Given the description of an element on the screen output the (x, y) to click on. 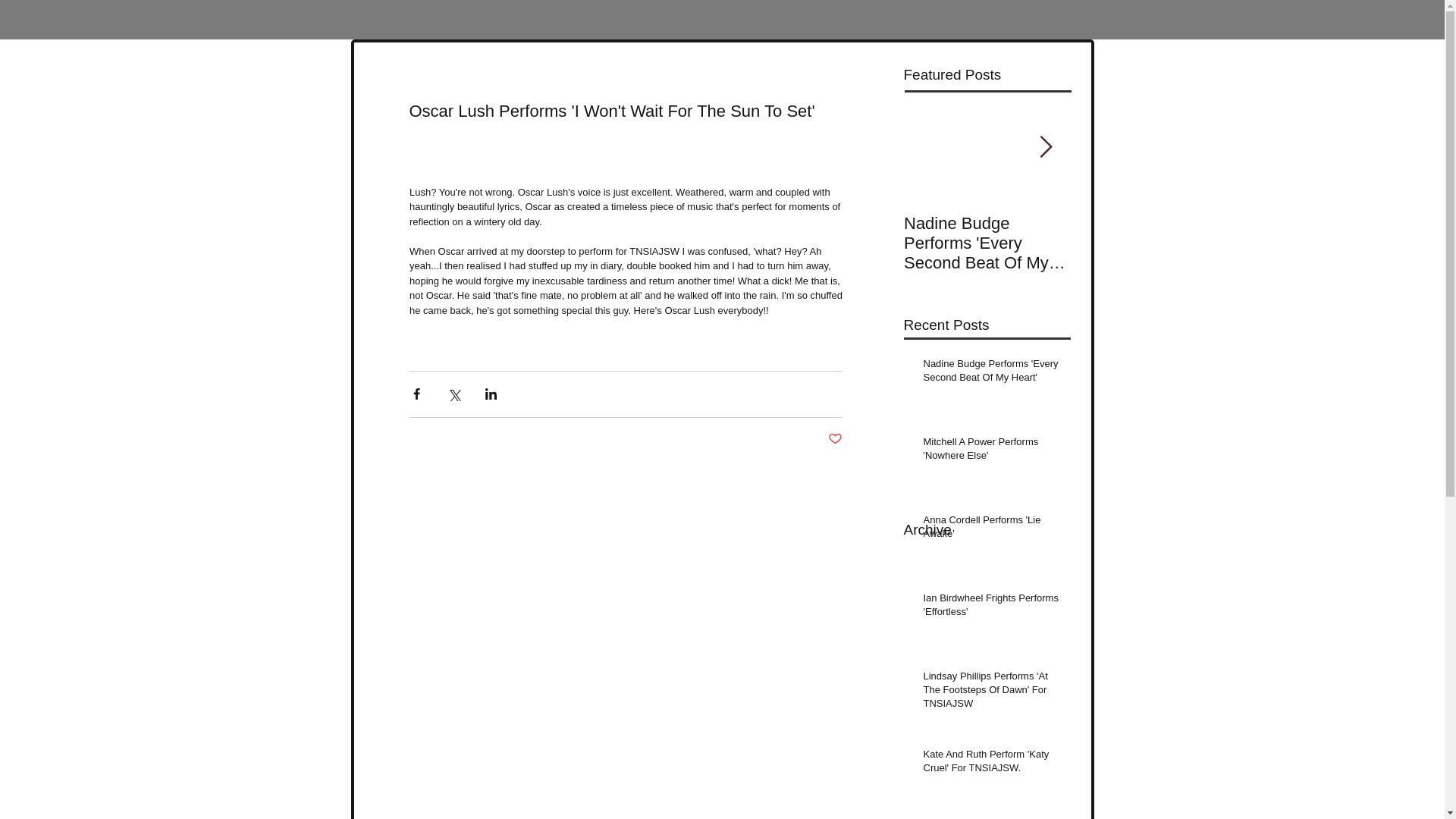
Mitchell A Power Performs 'Nowhere Else' (992, 451)
Nadine Budge Performs 'Every Second Beat Of My Heart' (987, 242)
Ian Birdwheel Frights Performs 'Effortless' (992, 607)
Nadine Budge Performs 'Every Second Beat Of My Heart' (992, 373)
Mitchell A Power Performs 'Nowhere Else' (1153, 242)
Anna Cordell Performs 'Lie Awake' (992, 530)
Kate And Ruth Perform 'Katy Cruel' For TNSIAJSW. (992, 764)
Post not marked as liked (835, 438)
